Given the description of an element on the screen output the (x, y) to click on. 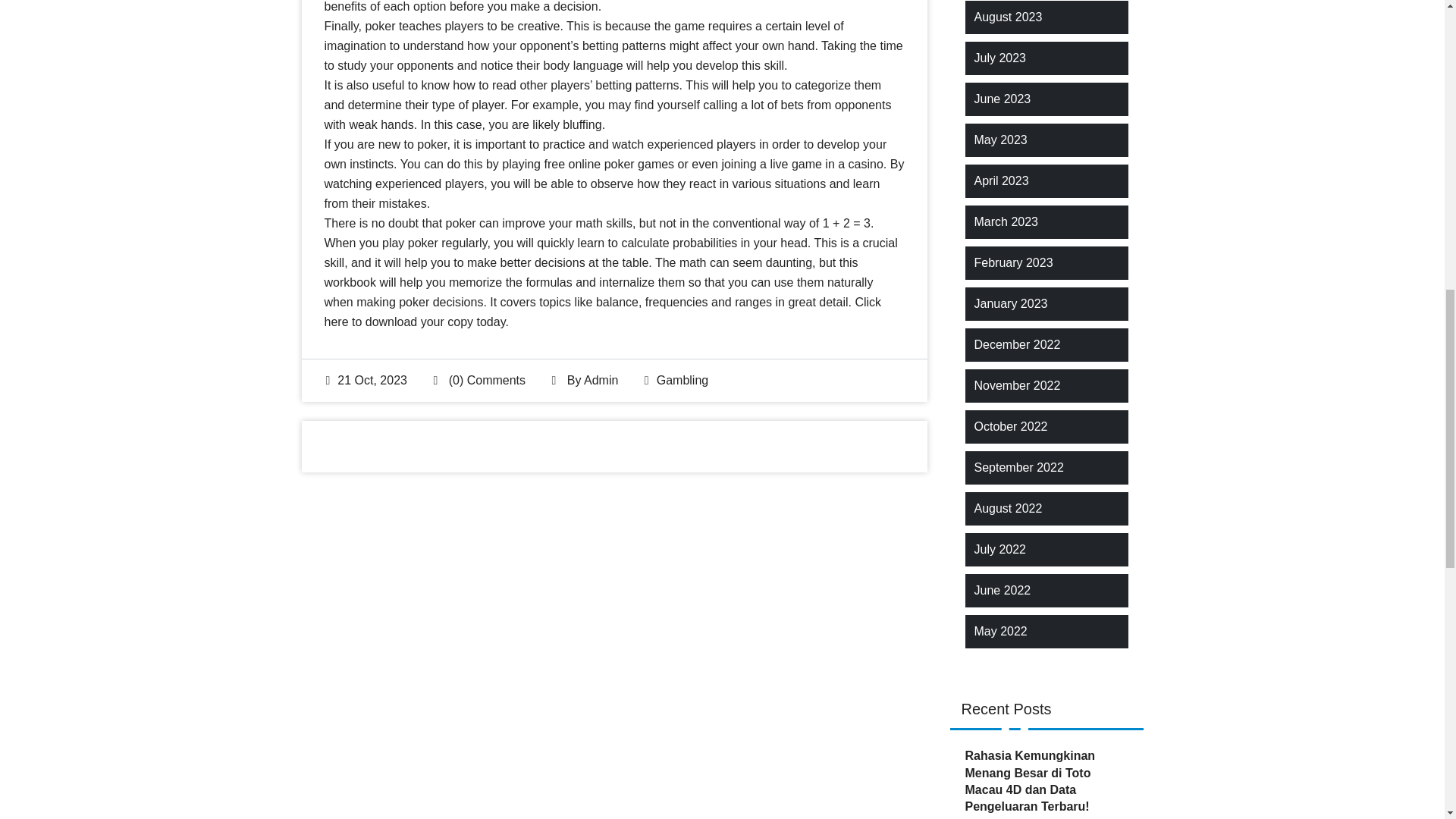
September 2022 (1018, 467)
August 2022 (1008, 508)
May 2023 (1000, 140)
November 2022 (1016, 385)
December 2022 (1016, 344)
June 2023 (1002, 99)
July 2023 (1000, 58)
Gambling (681, 379)
July 2022 (1000, 549)
Admin (600, 379)
June 2022 (1002, 590)
August 2023 (1008, 17)
April 2023 (1000, 180)
May 2022 (1000, 631)
